Given the description of an element on the screen output the (x, y) to click on. 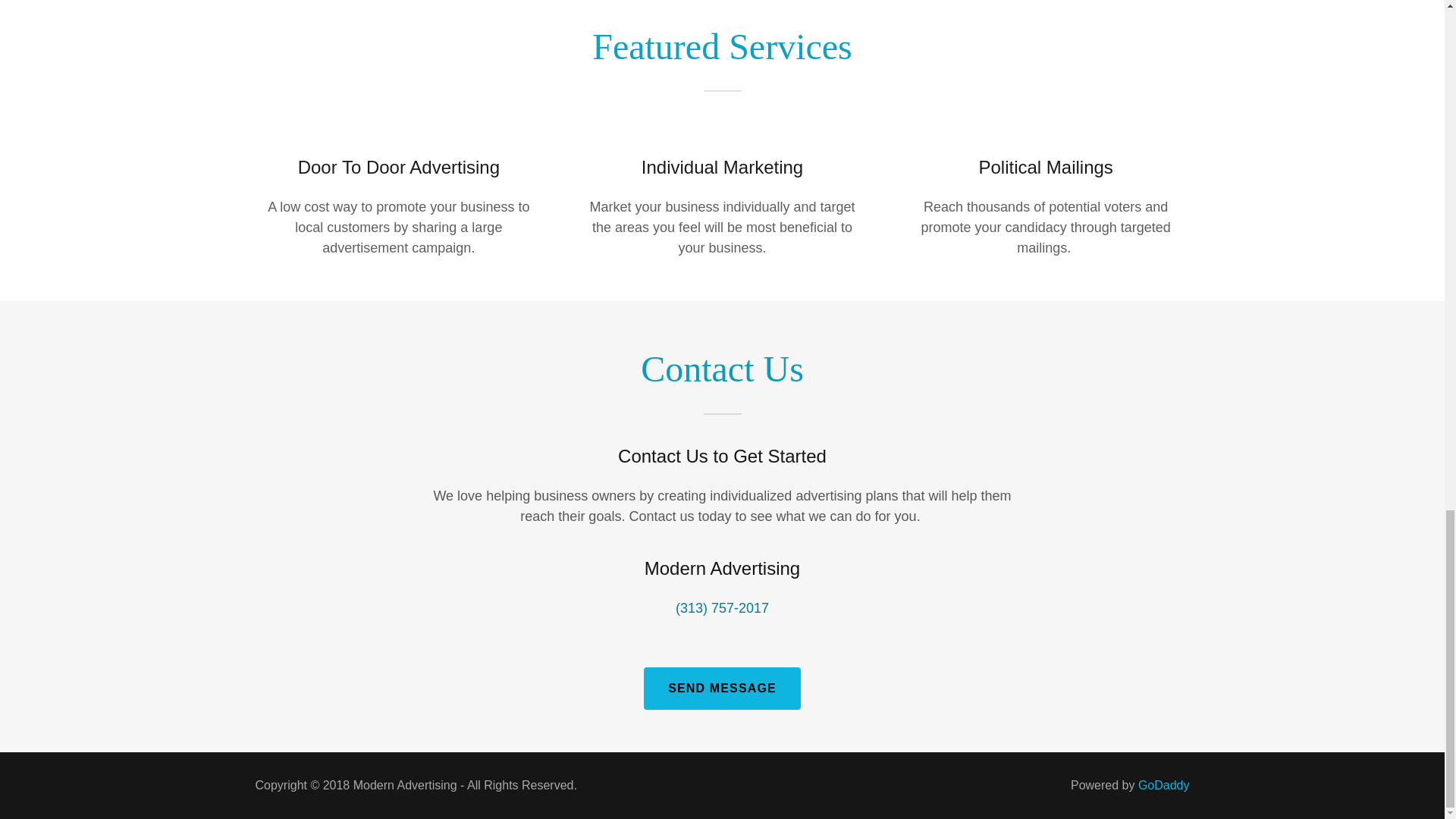
SEND MESSAGE (721, 688)
GoDaddy (1163, 784)
